Given the description of an element on the screen output the (x, y) to click on. 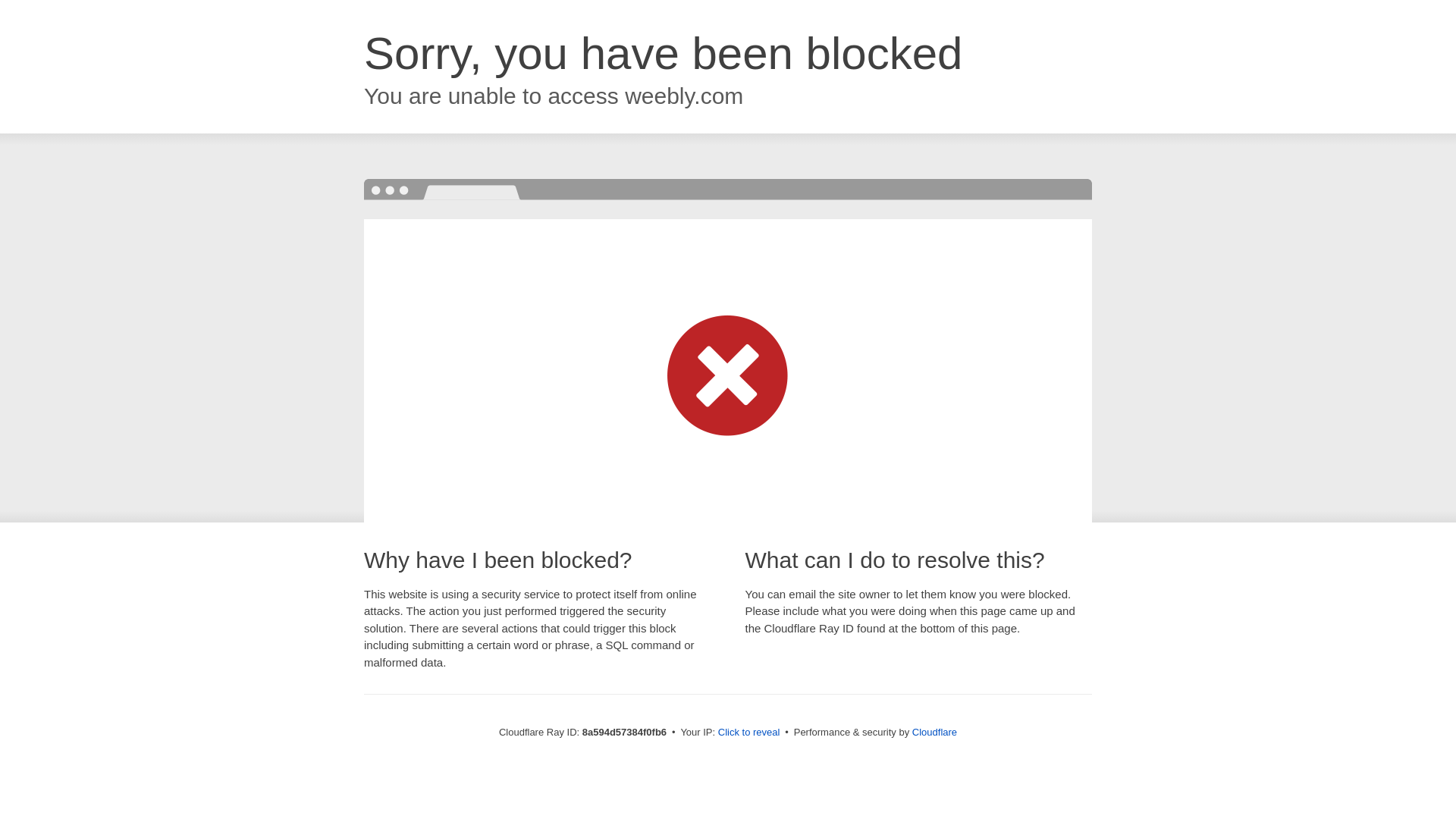
Cloudflare (934, 731)
Click to reveal (748, 732)
